Given the description of an element on the screen output the (x, y) to click on. 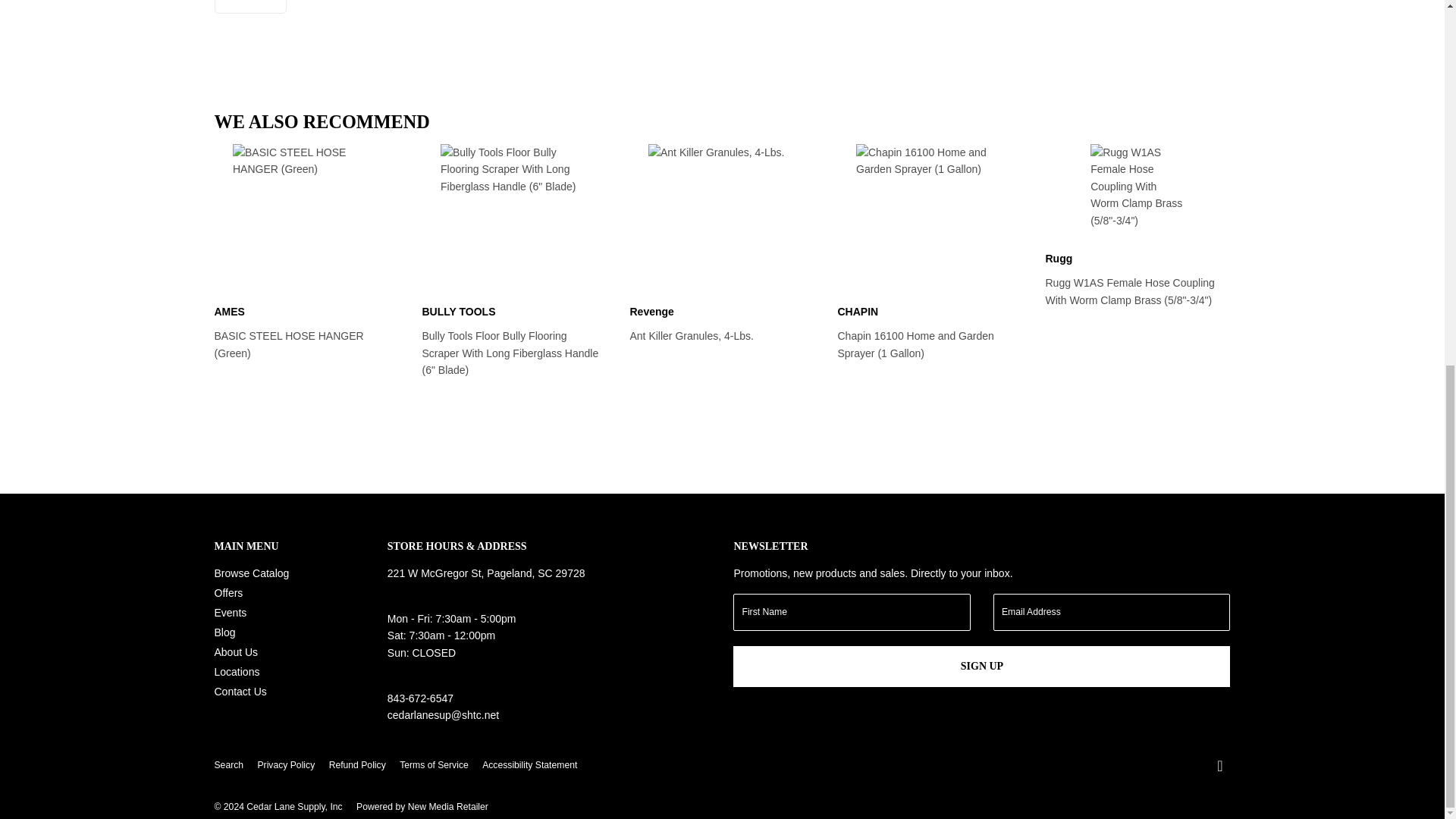
Cedar Lane Supply, Inc on Facebook (1220, 767)
New Media Retailer (421, 806)
